Given the description of an element on the screen output the (x, y) to click on. 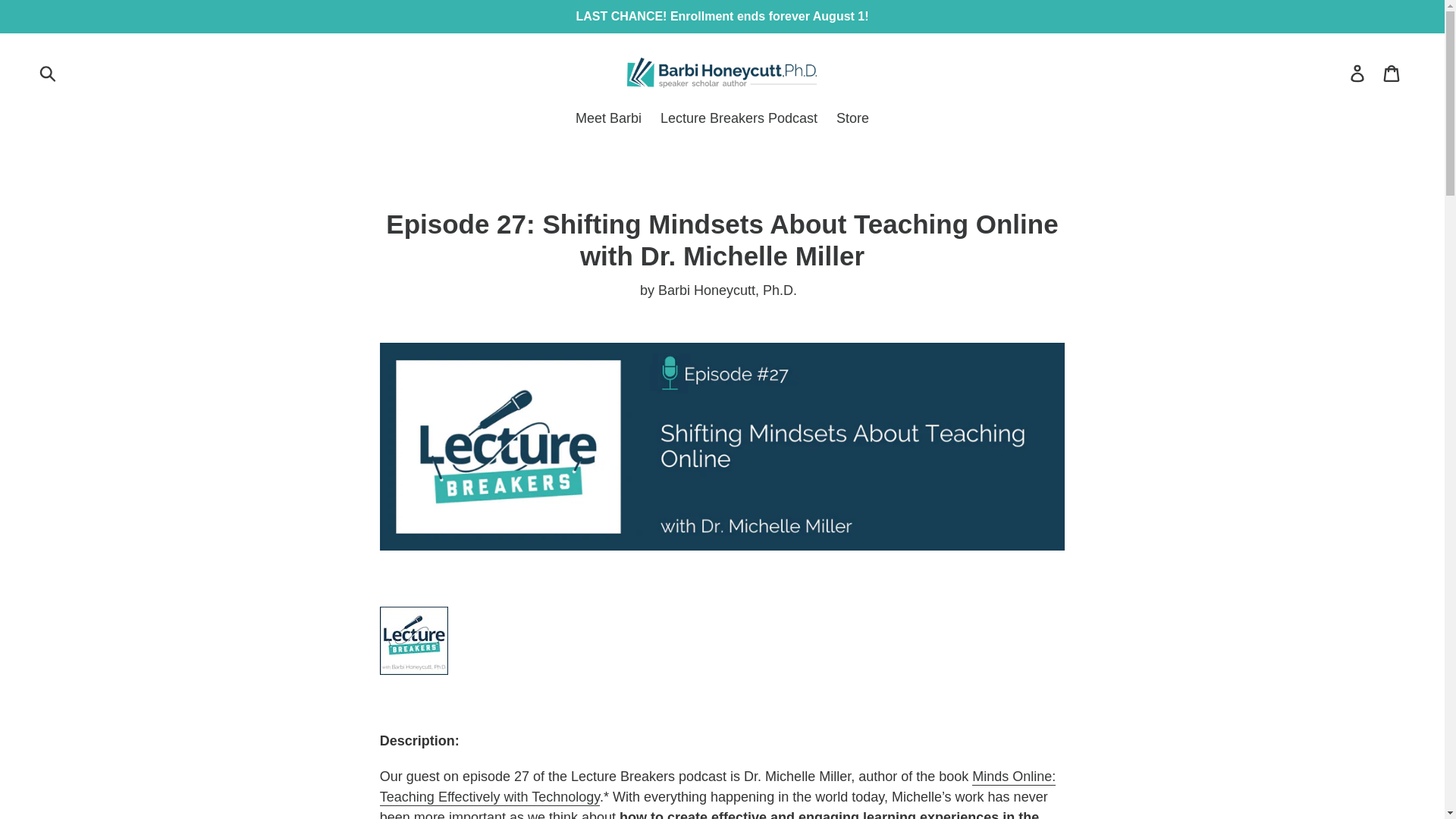
Submit (48, 72)
Minds Online: Teaching Effectively with Technology (718, 787)
Log in (1357, 72)
lecture breakers podcast teaching and learning online  (718, 787)
Meet Barbi (608, 119)
Lecture Breakers Podcast (738, 119)
Cart (1392, 72)
Store (852, 119)
